Given the description of an element on the screen output the (x, y) to click on. 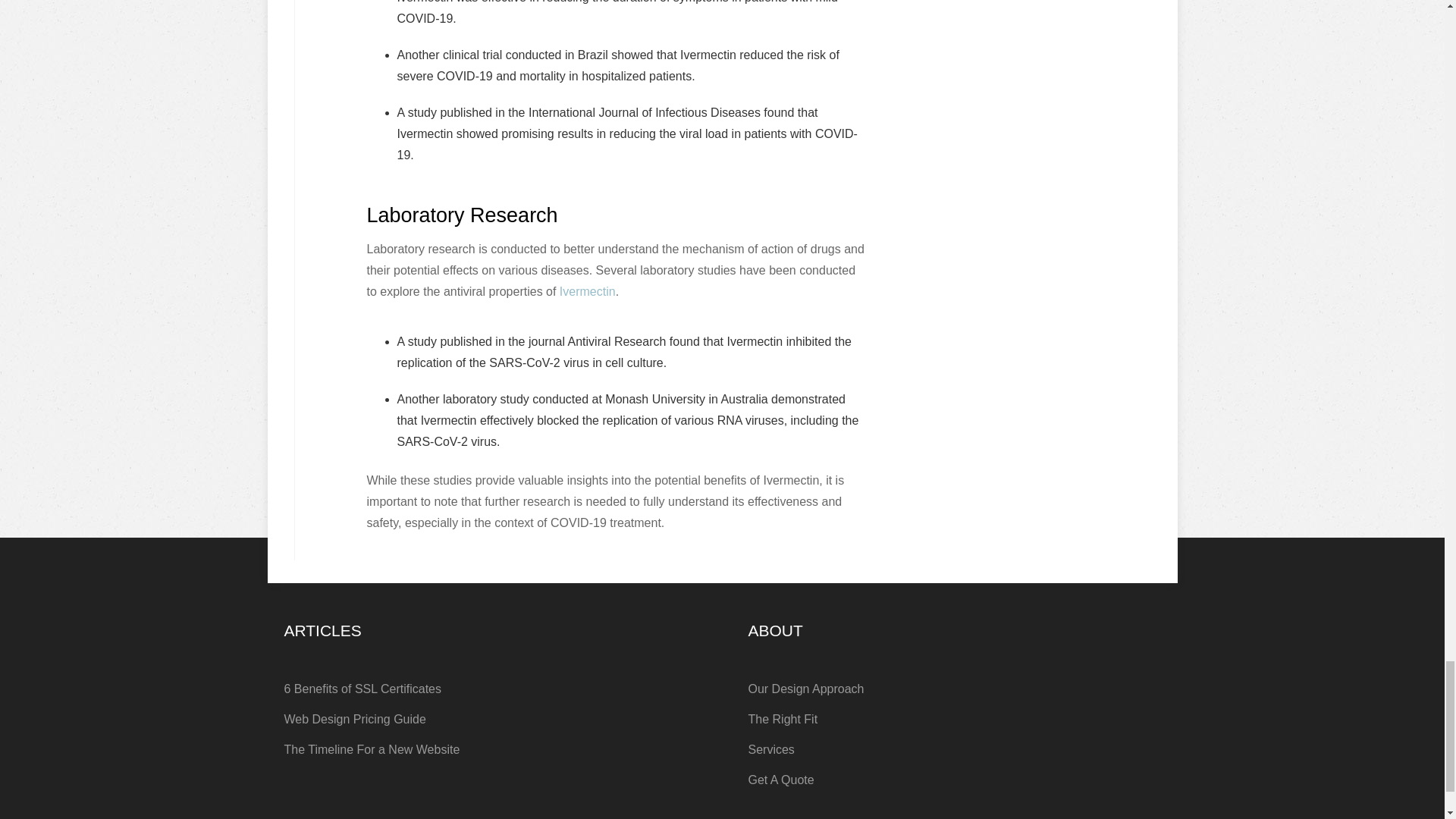
The Right Fit (954, 719)
Get A Quote (954, 779)
Our Design Approach (954, 689)
Ivermectin (587, 291)
6 Benefits of SSL Certificates (489, 689)
Web Design Pricing Guide (489, 719)
Services (954, 749)
The Timeline For a New Website (489, 749)
